Given the description of an element on the screen output the (x, y) to click on. 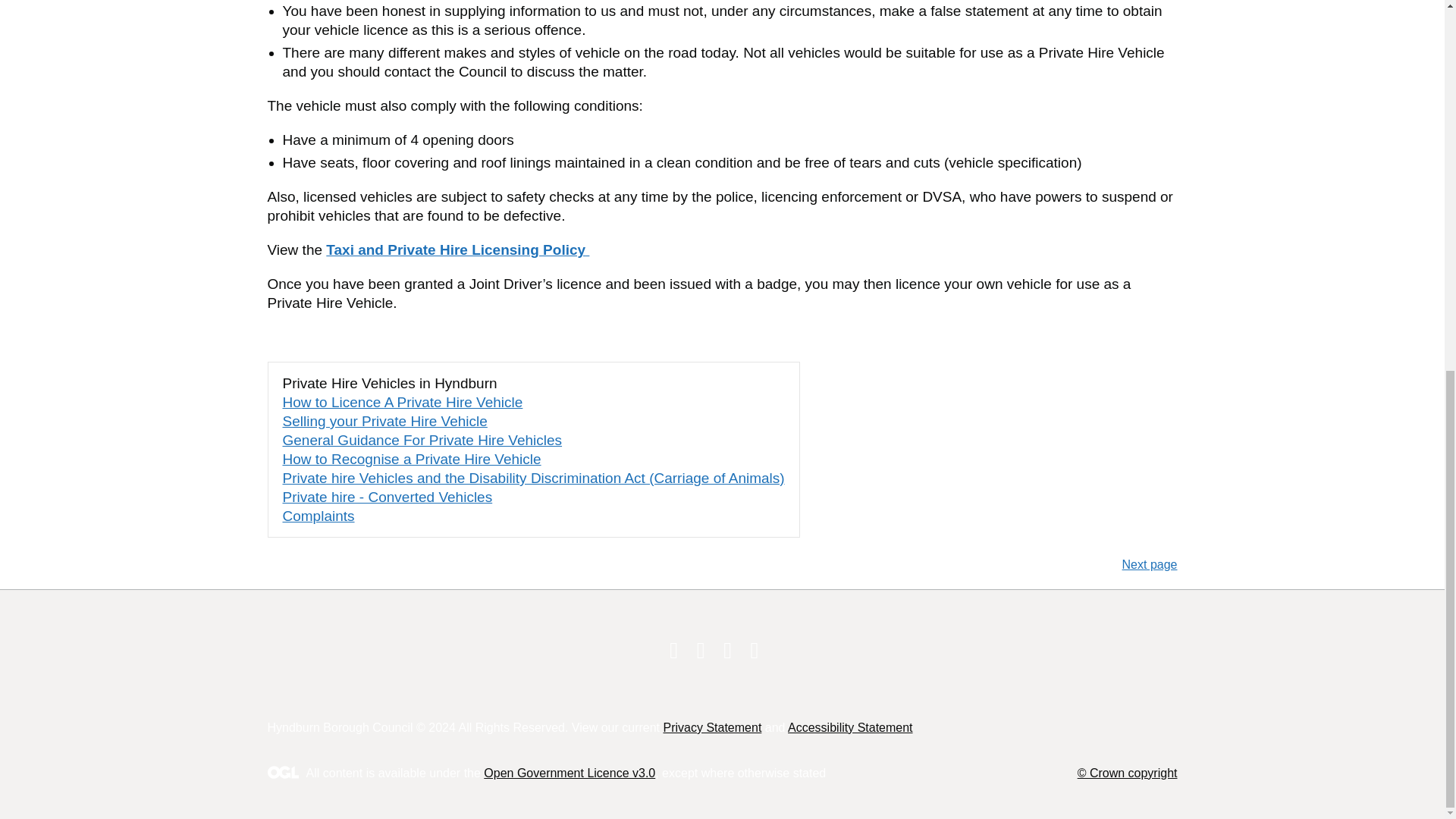
Private hire - Converted Vehicles (387, 496)
Open Government Licence v3.0 (569, 772)
Complaints (317, 515)
Taxi and Private Hire Licensing Policy  (457, 249)
General Guidance For Private Hire Vehicles (422, 439)
How to Recognise a Private Hire Vehicle (411, 458)
Accessibility Statement (849, 727)
Privacy Statement (711, 727)
Next page (949, 564)
Selling your Private Hire Vehicle (384, 421)
